Given the description of an element on the screen output the (x, y) to click on. 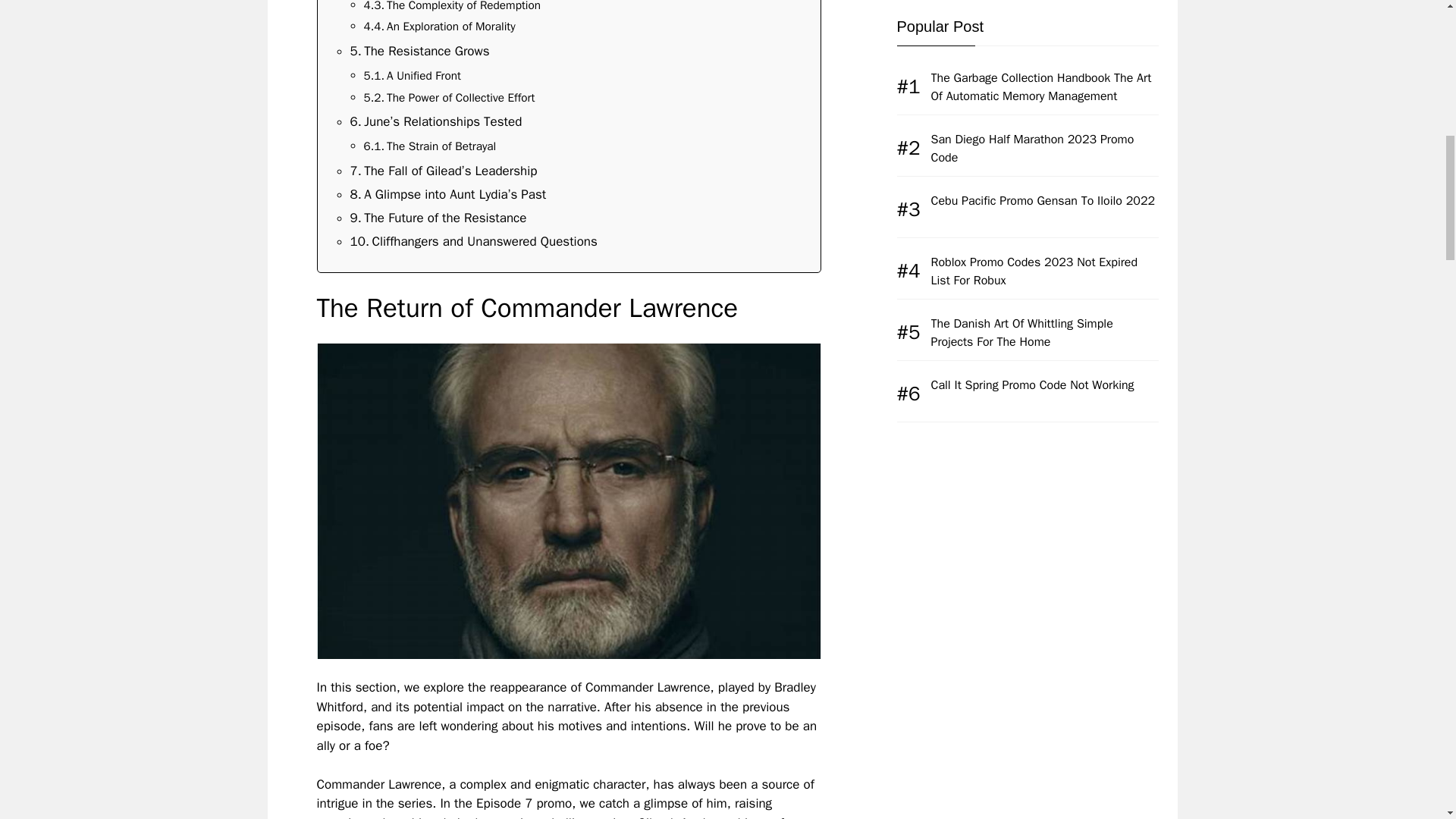
The Power of Collective Effort (449, 97)
The Strain of Betrayal (430, 146)
An Exploration of Morality (439, 26)
A Unified Front (412, 75)
The Resistance Grows (419, 50)
Cliffhangers and Unanswered Questions (473, 240)
The Complexity of Redemption (452, 7)
The Future of the Resistance (438, 218)
